Given the description of an element on the screen output the (x, y) to click on. 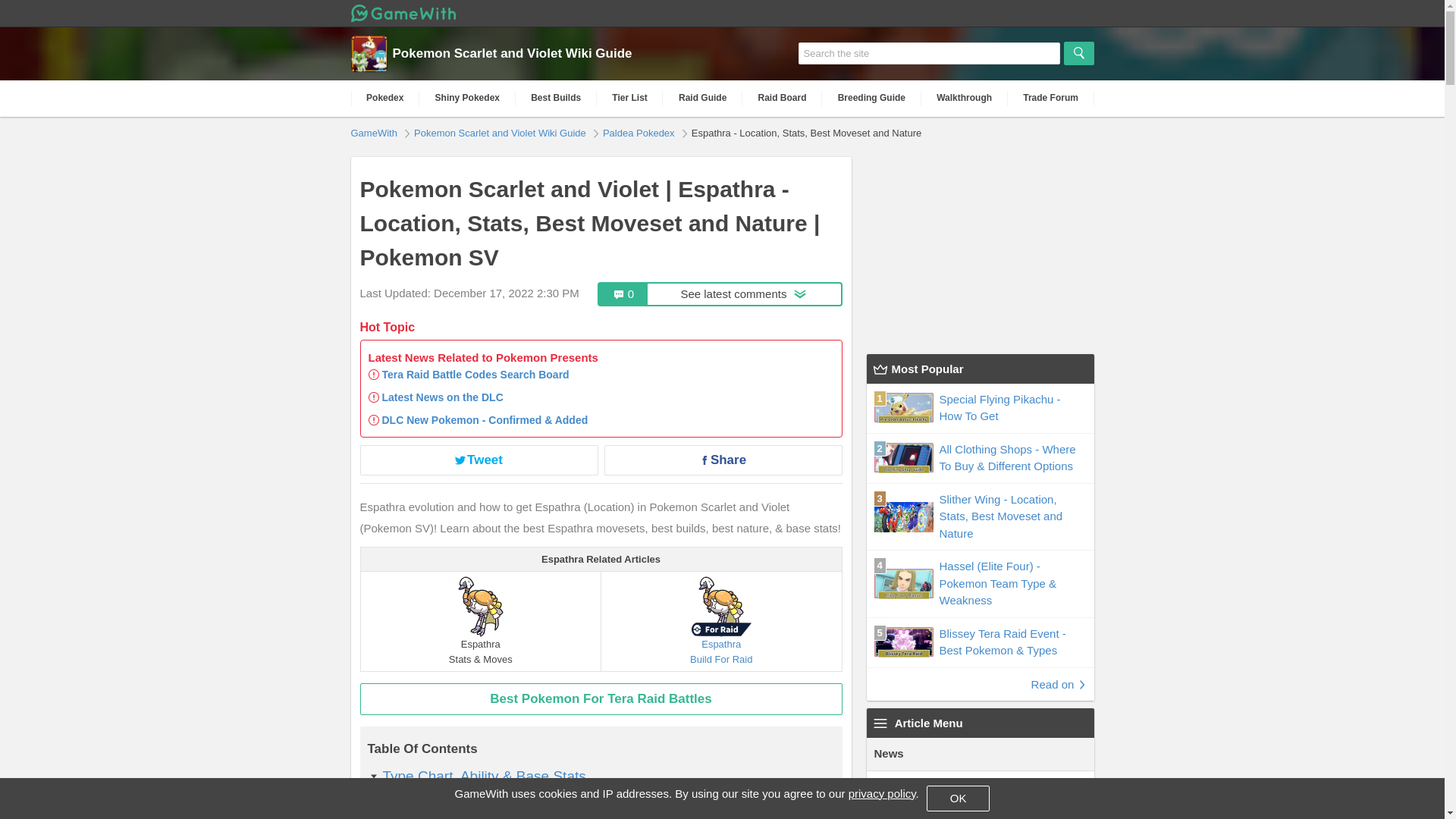
Trade Forum (1050, 98)
Pokedex (384, 98)
Best Builds (555, 98)
Pokemon Scarlet and Violet Wiki Guide (520, 54)
Evolve Condition (435, 804)
Pokemon Scarlet and Violet Wiki Guide (721, 620)
Tera Raid Battle Codes Search Board (501, 132)
Best Pokemon For Tera Raid Battles (719, 293)
Share (475, 374)
Tier List (600, 698)
GameWith (722, 459)
Breeding Guide (629, 98)
Raid Guide (375, 132)
